Given the description of an element on the screen output the (x, y) to click on. 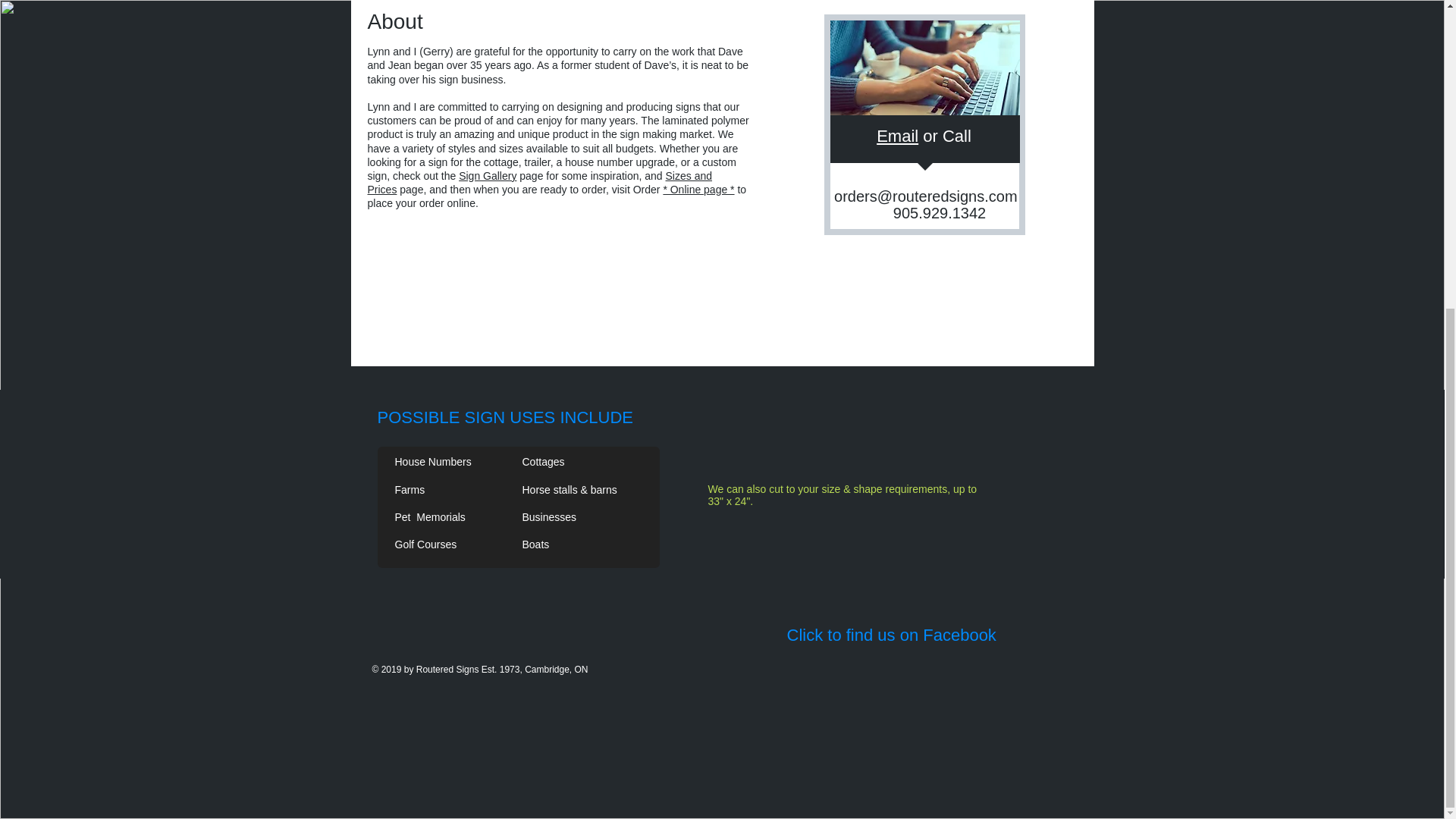
Email (897, 135)
Sizes and Prices (538, 182)
Sign Gallery (487, 175)
